Given the description of an element on the screen output the (x, y) to click on. 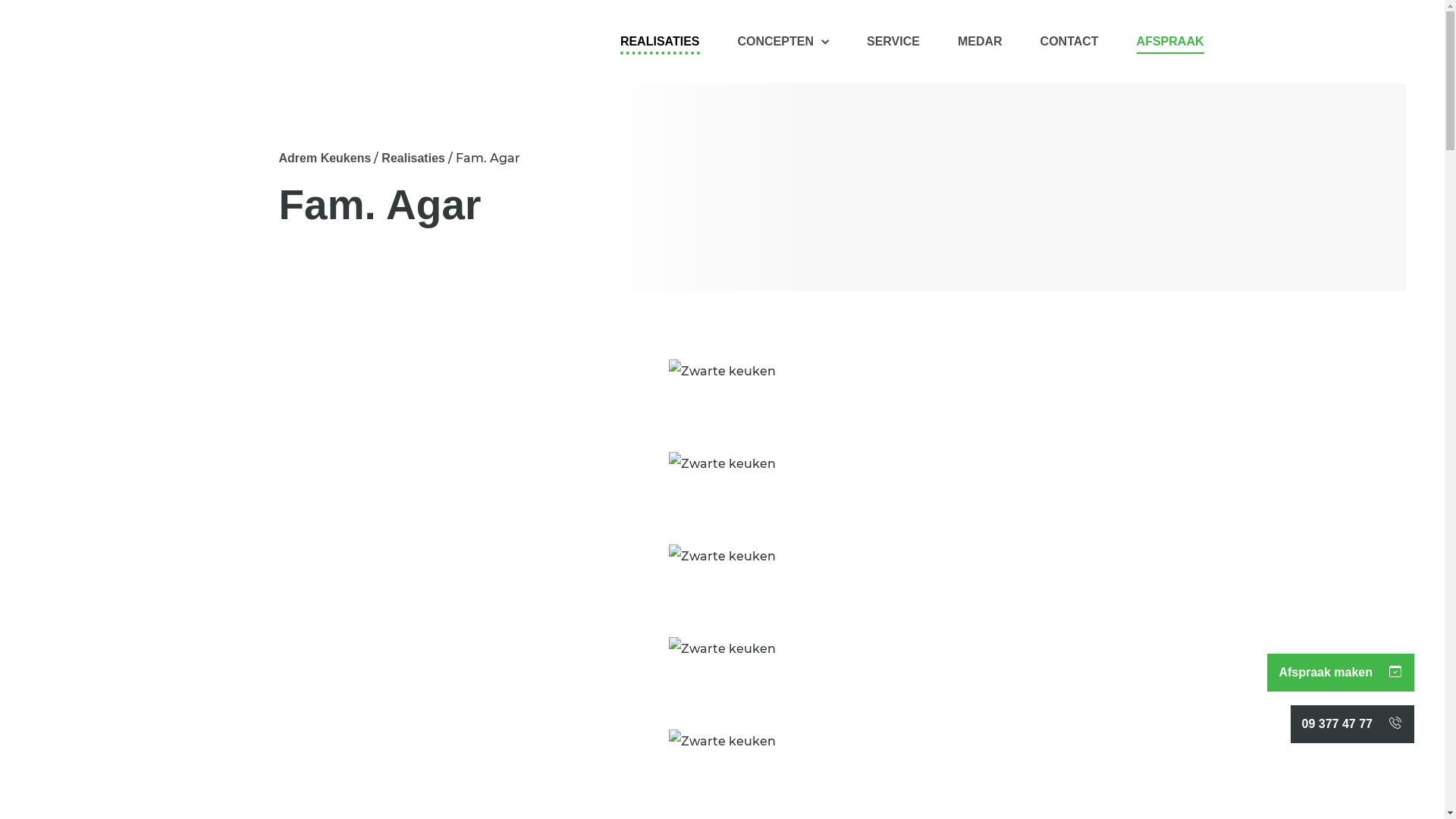
REALISATIES Element type: text (659, 44)
Realisaties Element type: text (413, 157)
AFSPRAAK Element type: text (1170, 44)
MEDAR Element type: text (979, 44)
09 377 47 77 Element type: text (1395, 724)
CONTACT Element type: text (1069, 44)
SERVICE Element type: text (892, 44)
Afspraak maken Element type: text (1395, 672)
Adrem Keukens Element type: text (325, 157)
CONCEPTEN Element type: text (782, 44)
